Given the description of an element on the screen output the (x, y) to click on. 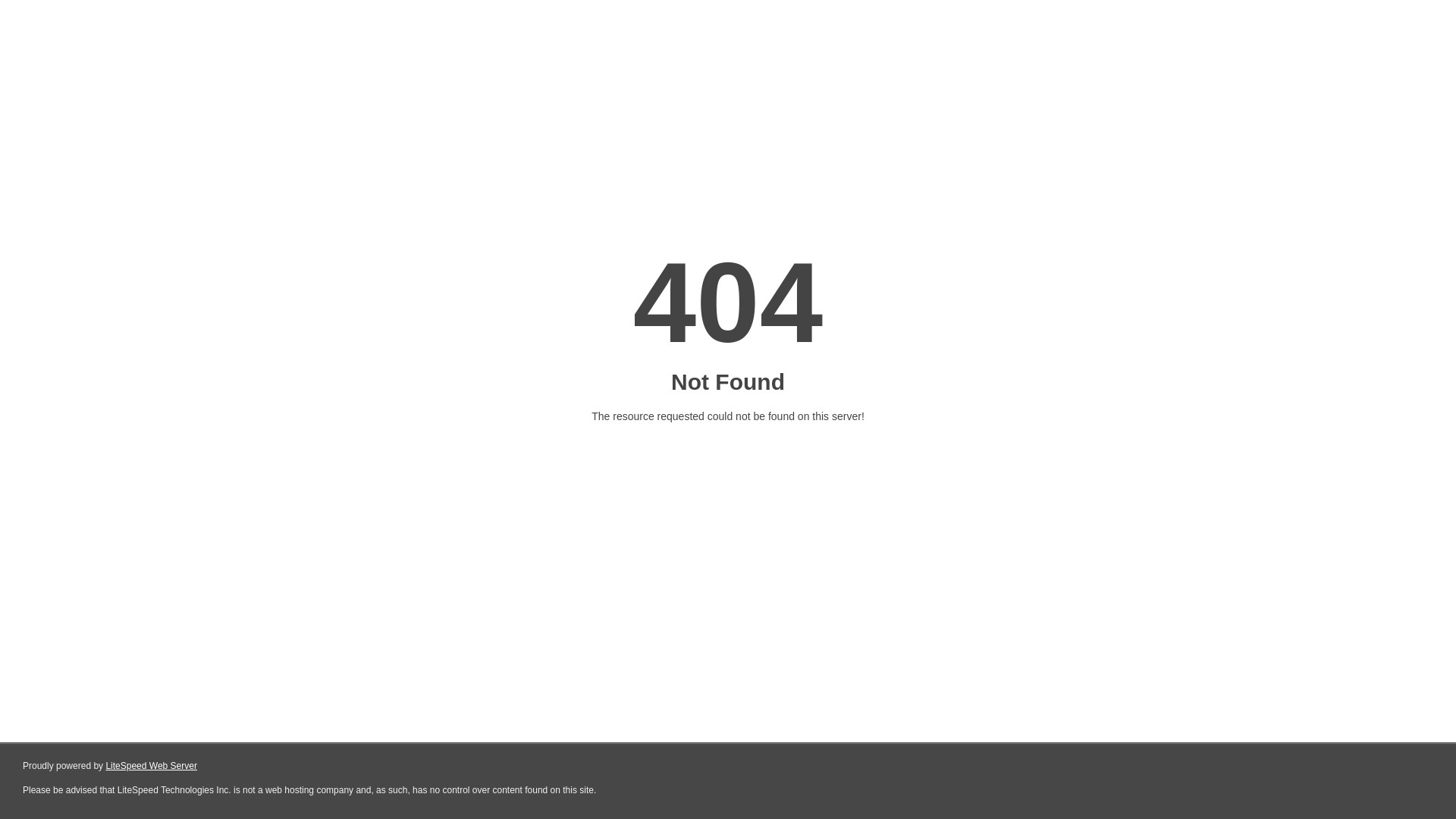
LiteSpeed Web Server Element type: text (151, 765)
